Given the description of an element on the screen output the (x, y) to click on. 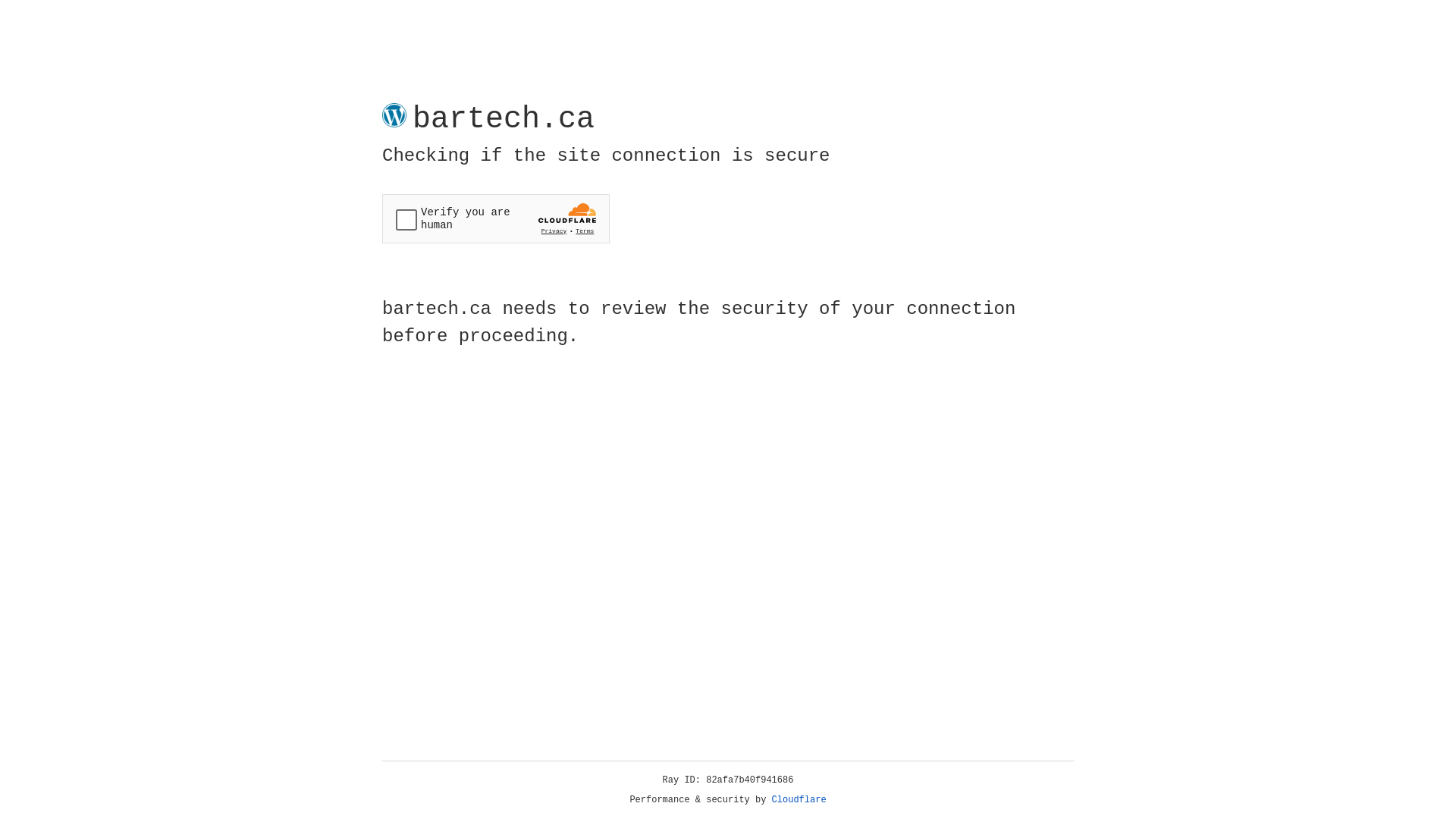
Widget containing a Cloudflare security challenge Element type: hover (495, 218)
Cloudflare Element type: text (798, 799)
